Given the description of an element on the screen output the (x, y) to click on. 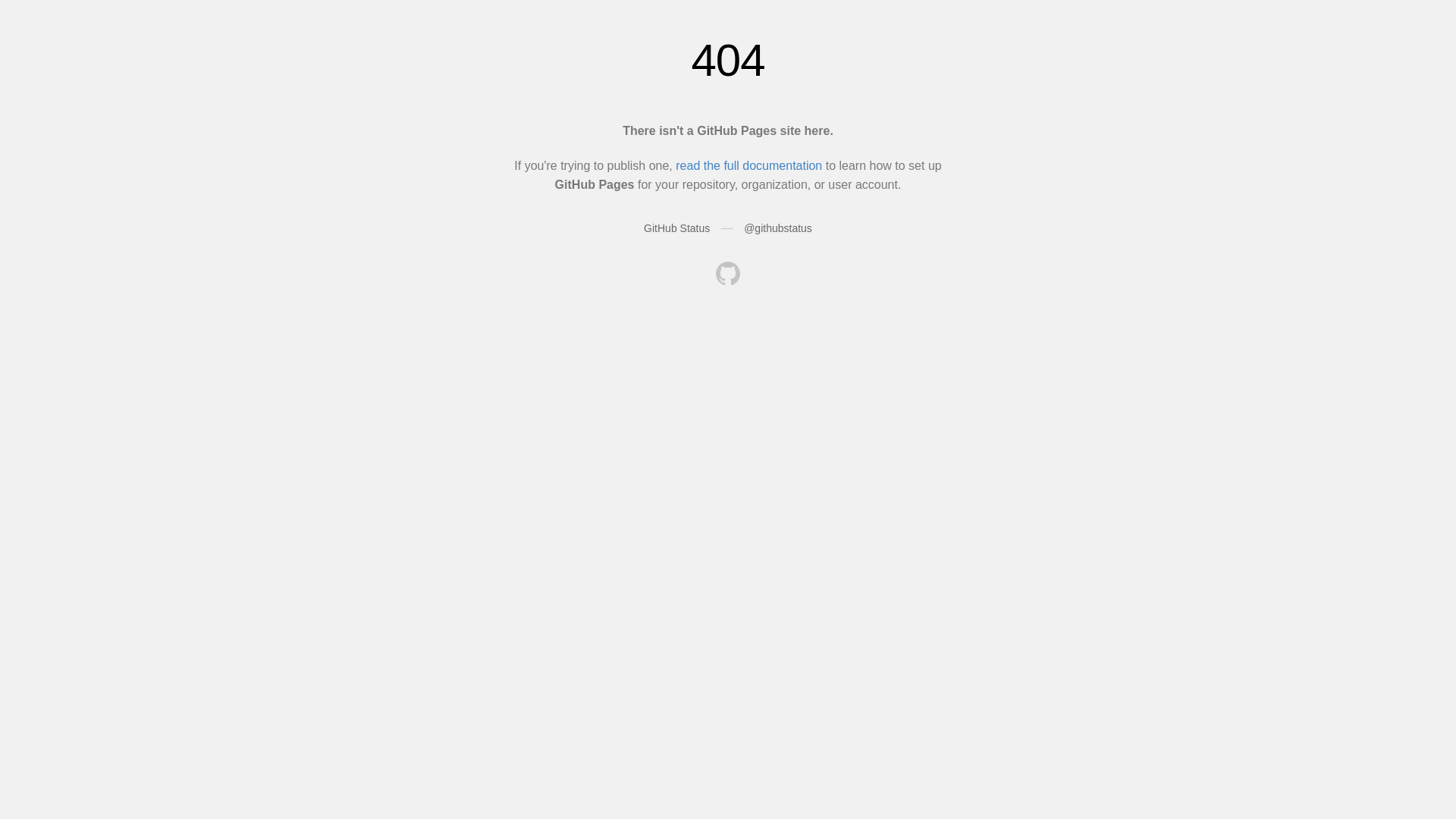
read the full documentation Element type: text (748, 165)
@githubstatus Element type: text (777, 228)
GitHub Status Element type: text (676, 228)
